Given the description of an element on the screen output the (x, y) to click on. 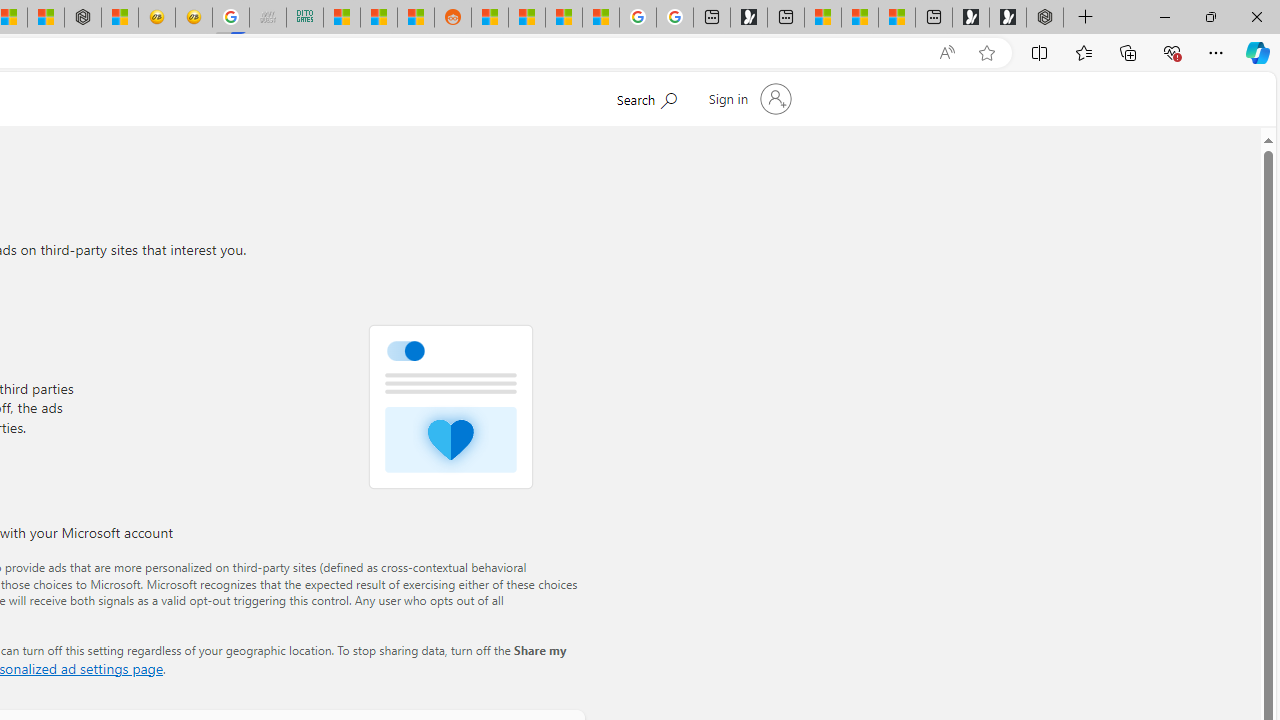
Sign in to your account (748, 98)
Nordace - #1 Japanese Best-Seller - Siena Smart Backpack (83, 17)
